Given the description of an element on the screen output the (x, y) to click on. 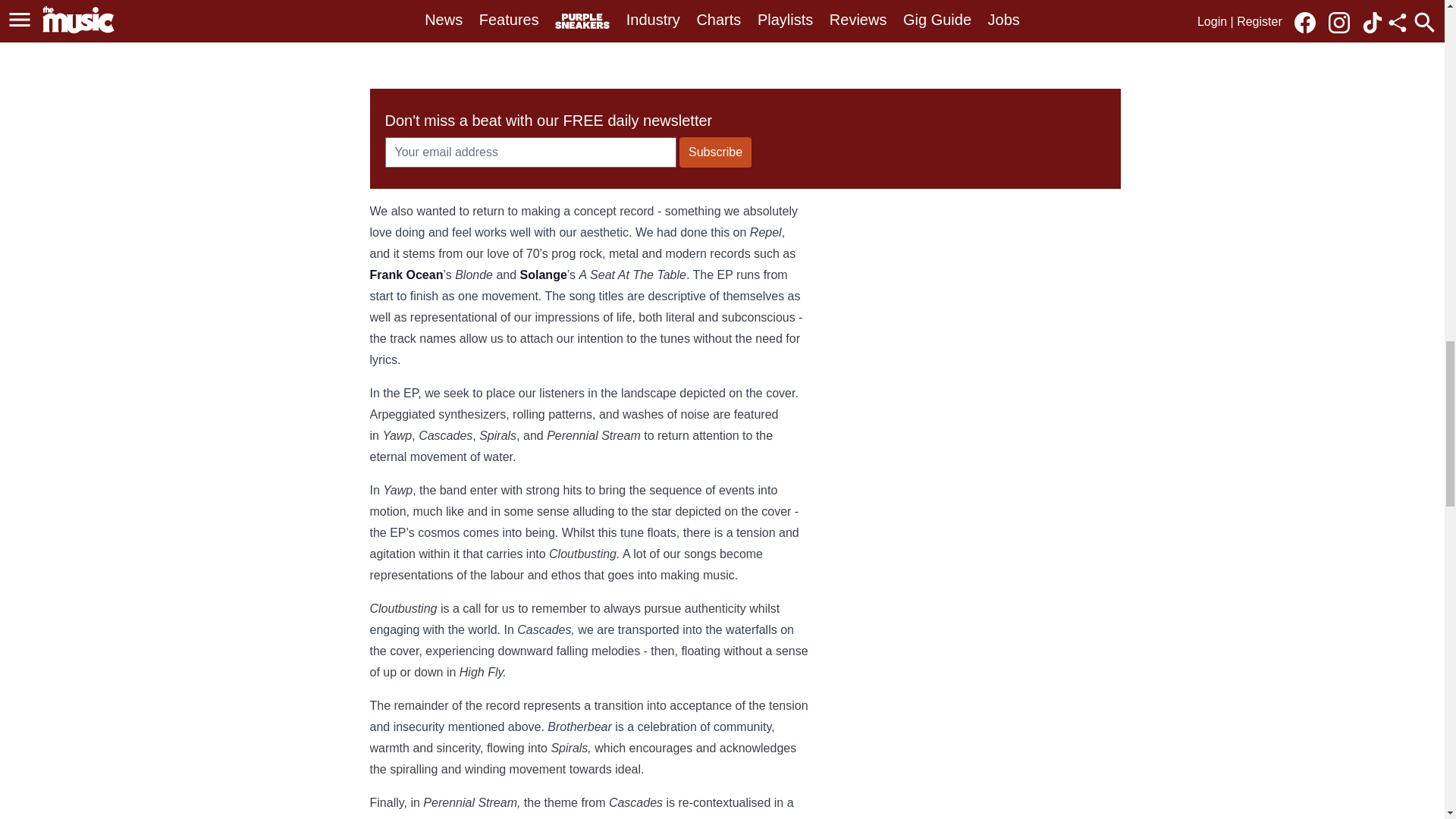
Subscribe (715, 152)
